Given the description of an element on the screen output the (x, y) to click on. 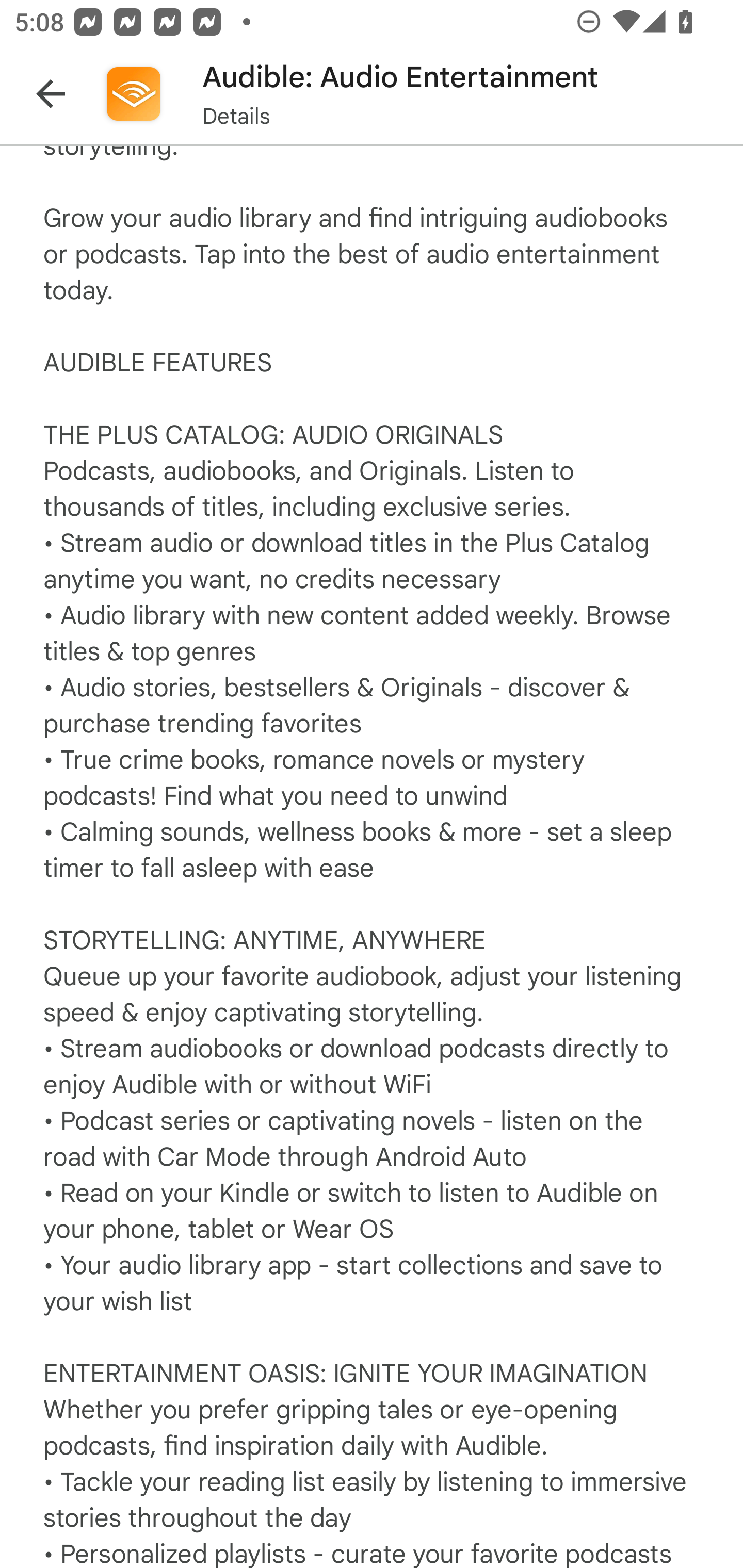
Navigate up (50, 93)
